Given the description of an element on the screen output the (x, y) to click on. 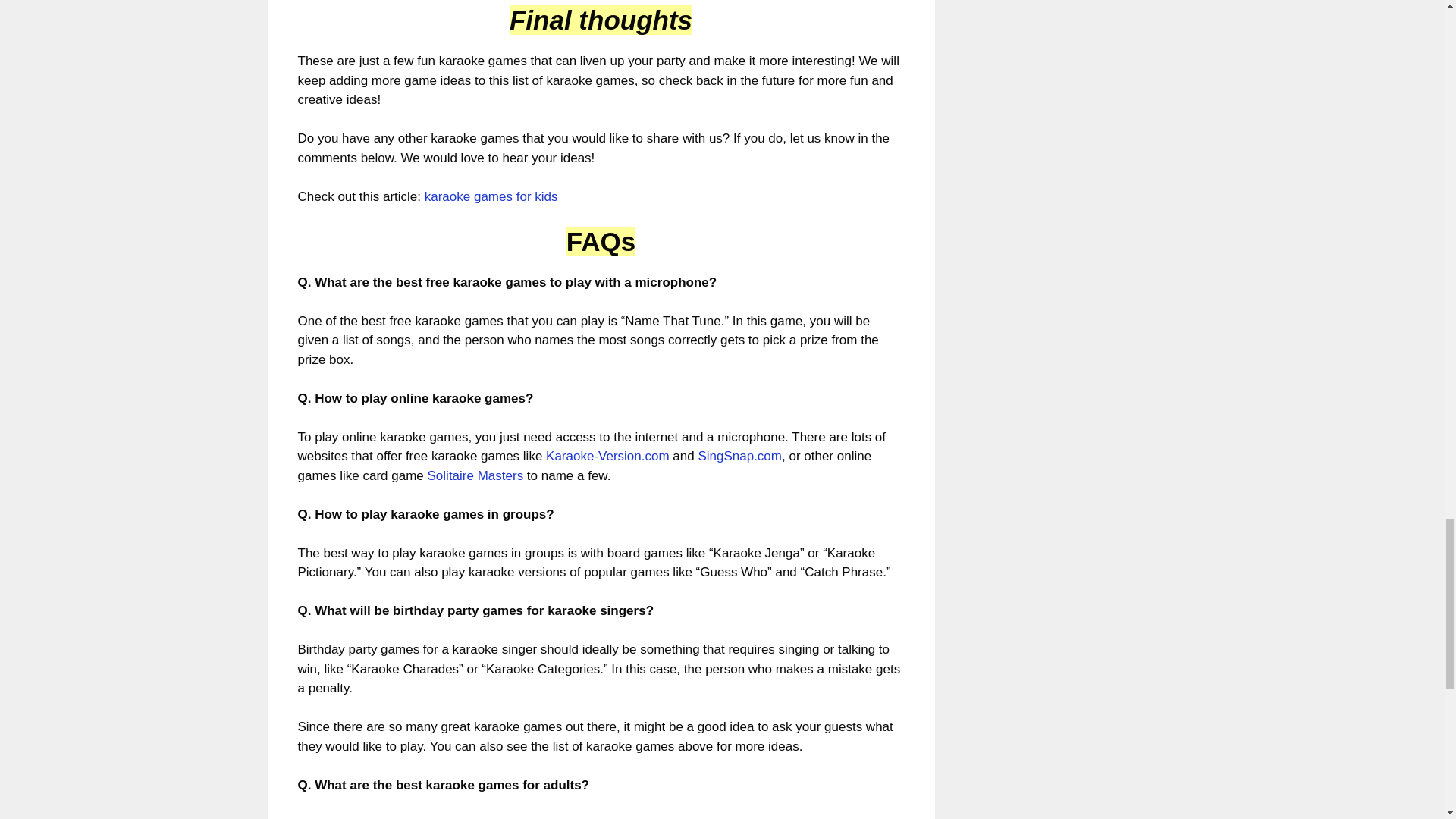
Solitaire Masters (476, 475)
SingSnap.com (739, 455)
Karaoke-Version.com (607, 455)
karaoke games for kids (491, 196)
